Given the description of an element on the screen output the (x, y) to click on. 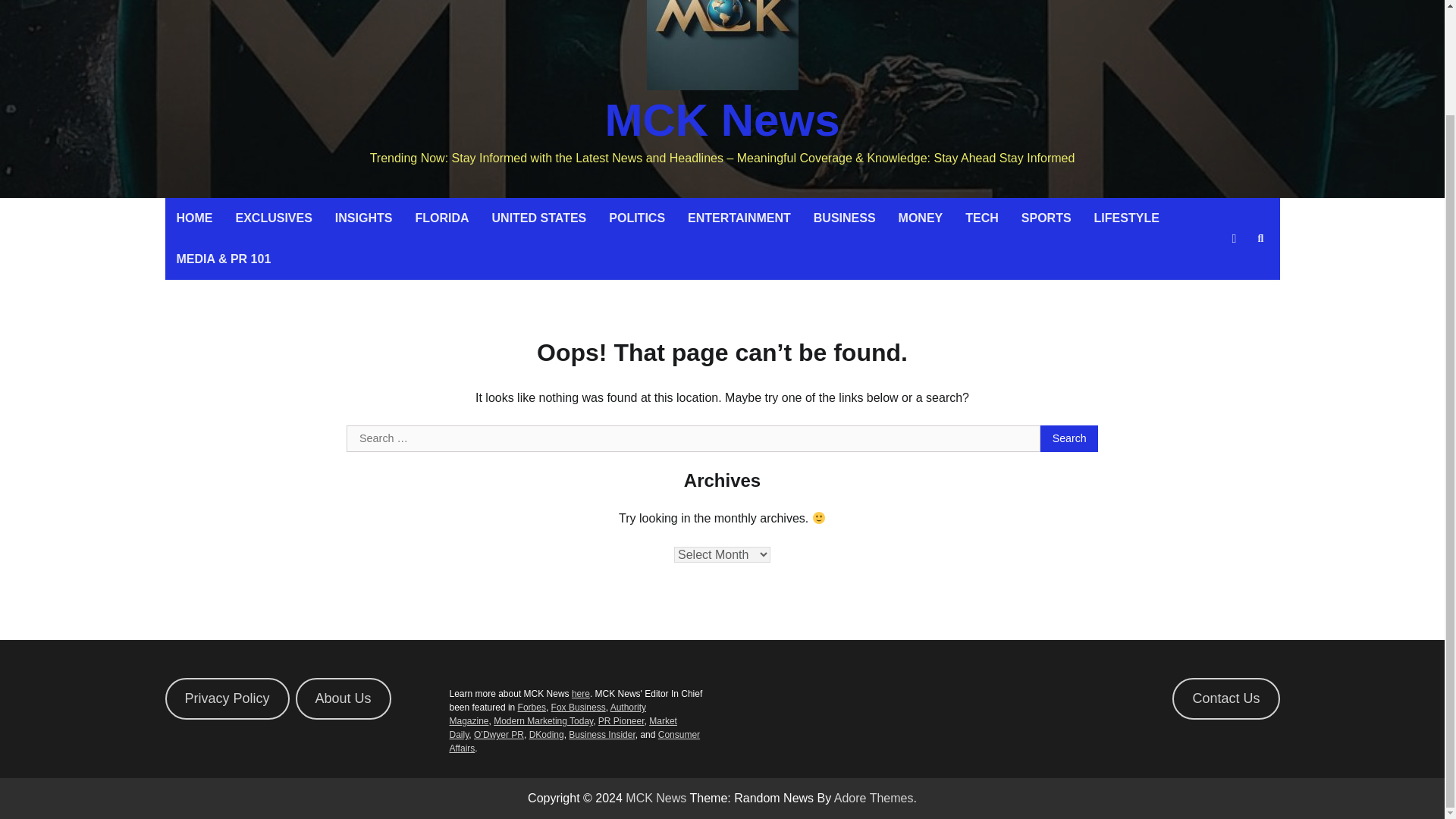
Contact Us (1225, 698)
Adore Themes (874, 797)
DKoding (546, 734)
Forbes (532, 706)
BUSINESS (844, 218)
Modern Marketing Today (542, 720)
Search (1260, 238)
PR Pioneer (621, 720)
Search (1232, 274)
